Given the description of an element on the screen output the (x, y) to click on. 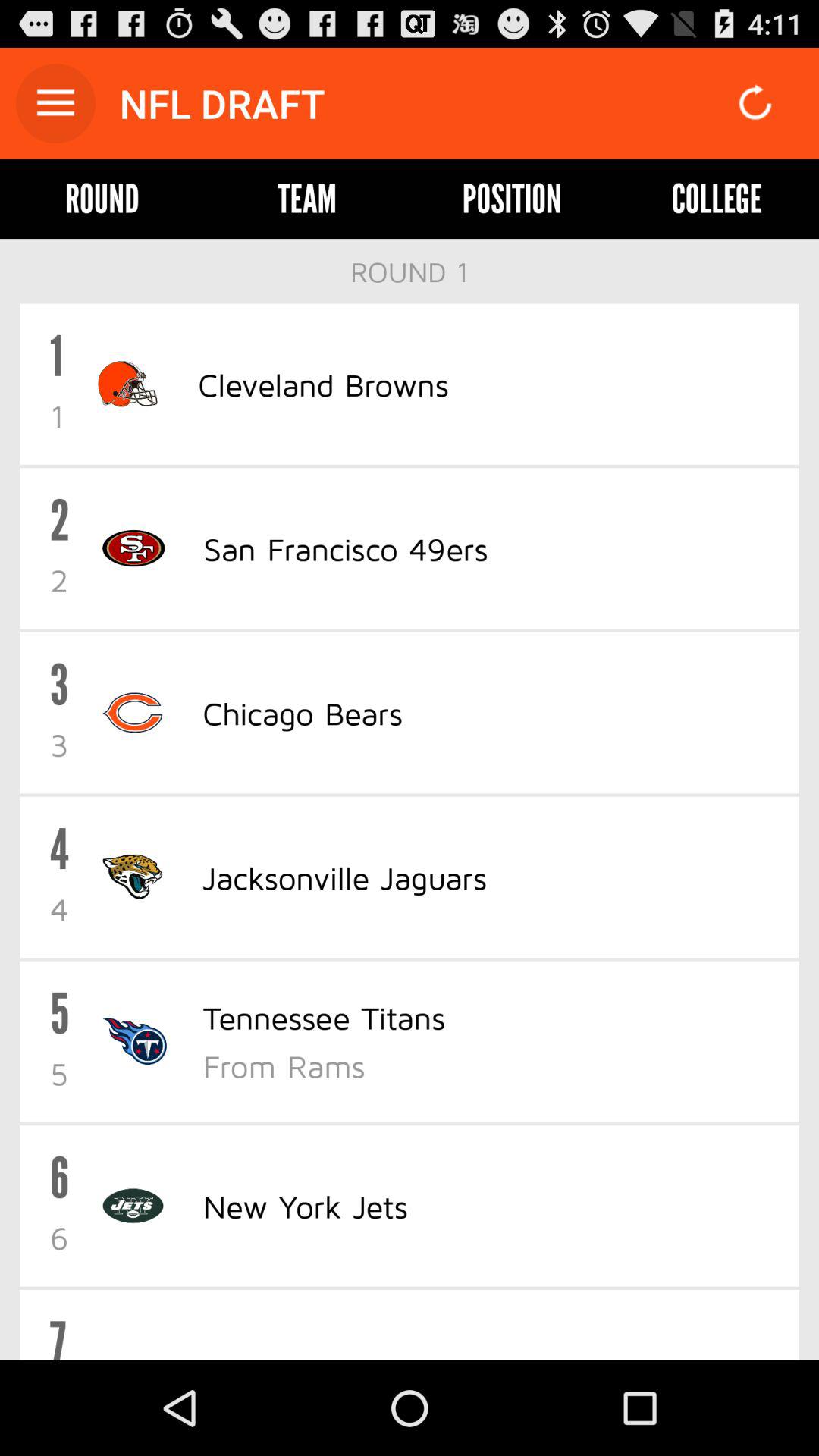
scroll to the cleveland browns (322, 384)
